Given the description of an element on the screen output the (x, y) to click on. 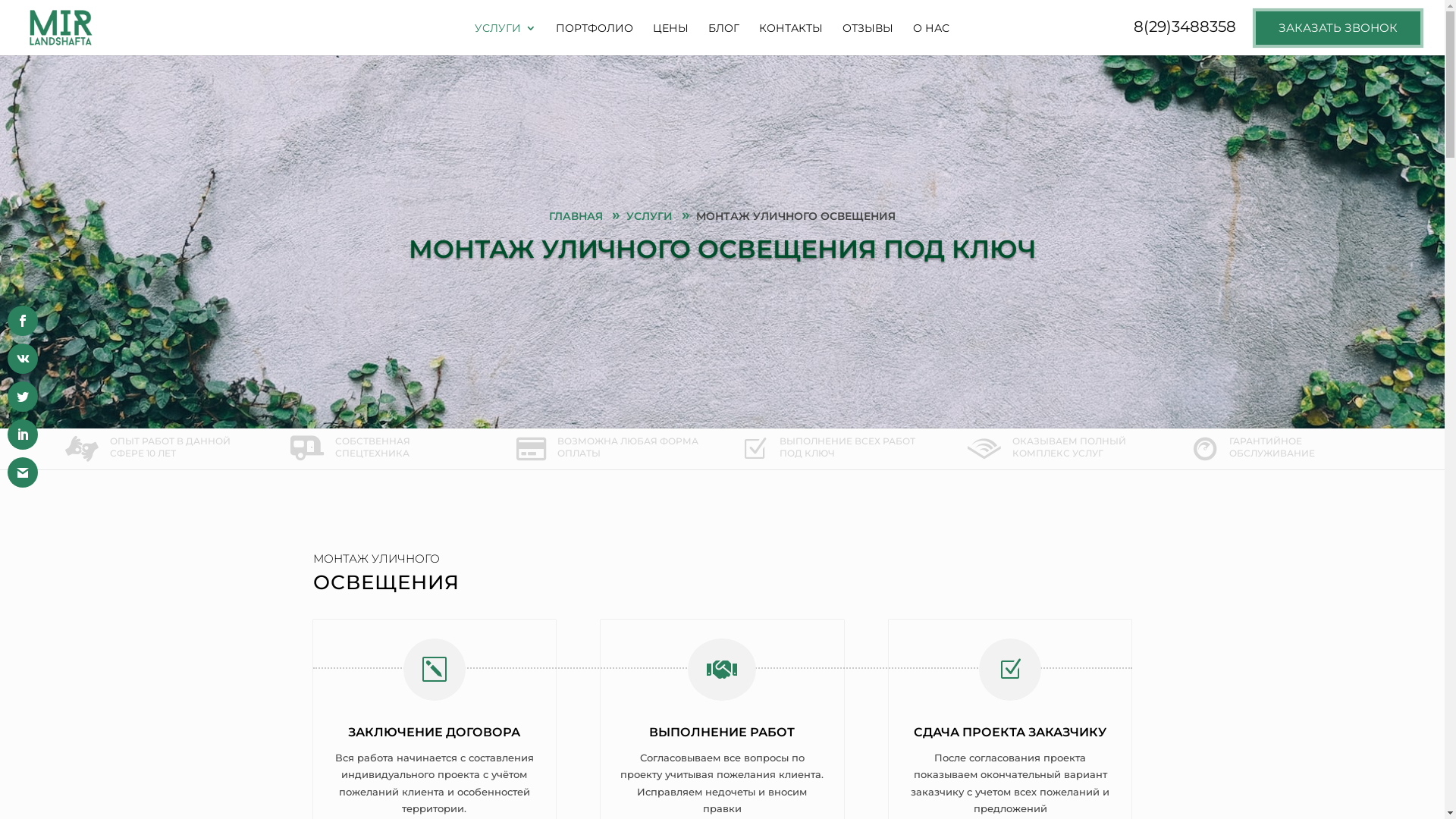
8(29)3488358 Element type: text (1184, 33)
